Given the description of an element on the screen output the (x, y) to click on. 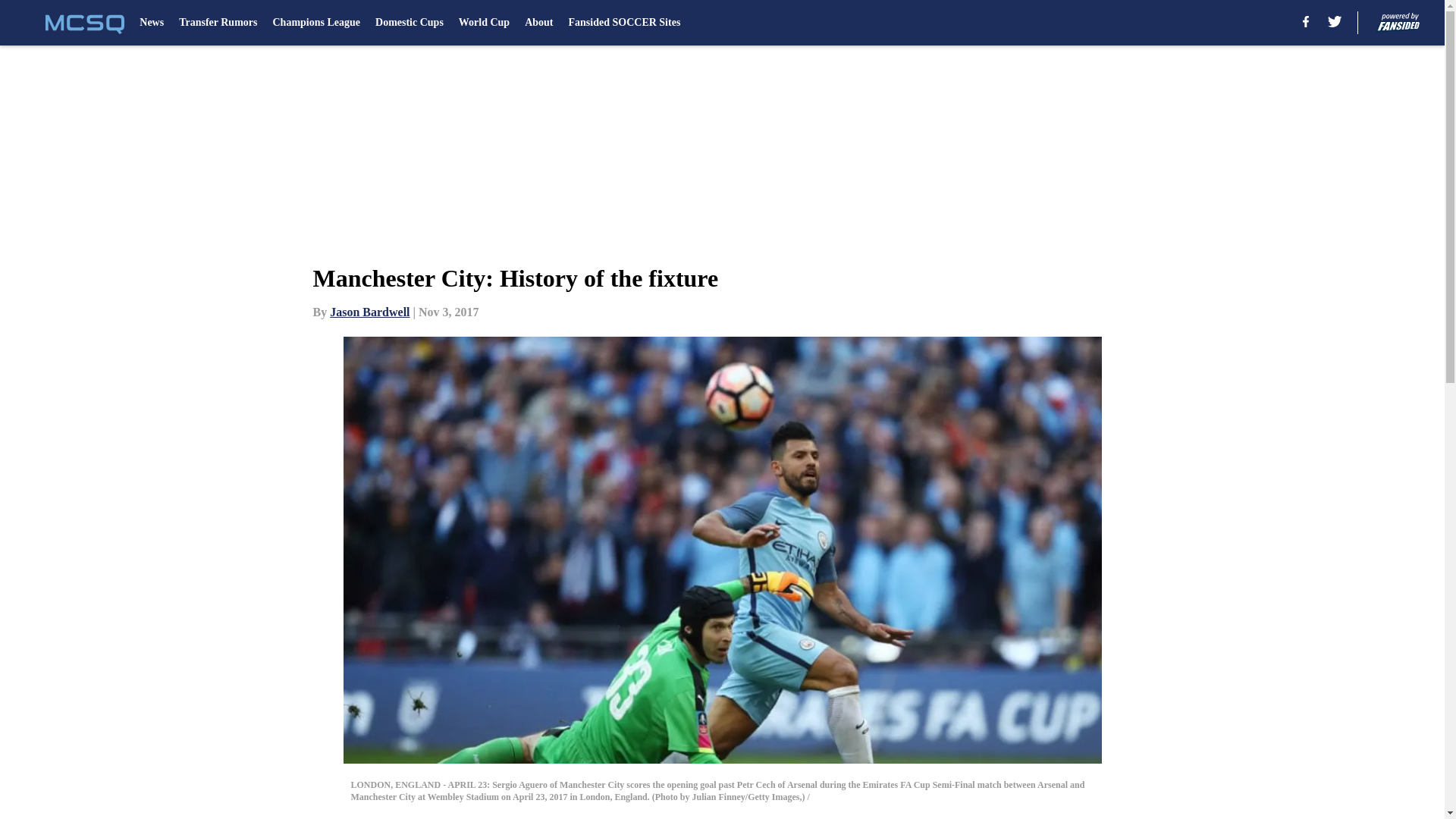
Domestic Cups (409, 22)
Jason Bardwell (369, 311)
News (151, 22)
Transfer Rumors (218, 22)
World Cup (483, 22)
Champions League (315, 22)
Fansided SOCCER Sites (625, 22)
About (538, 22)
